Given the description of an element on the screen output the (x, y) to click on. 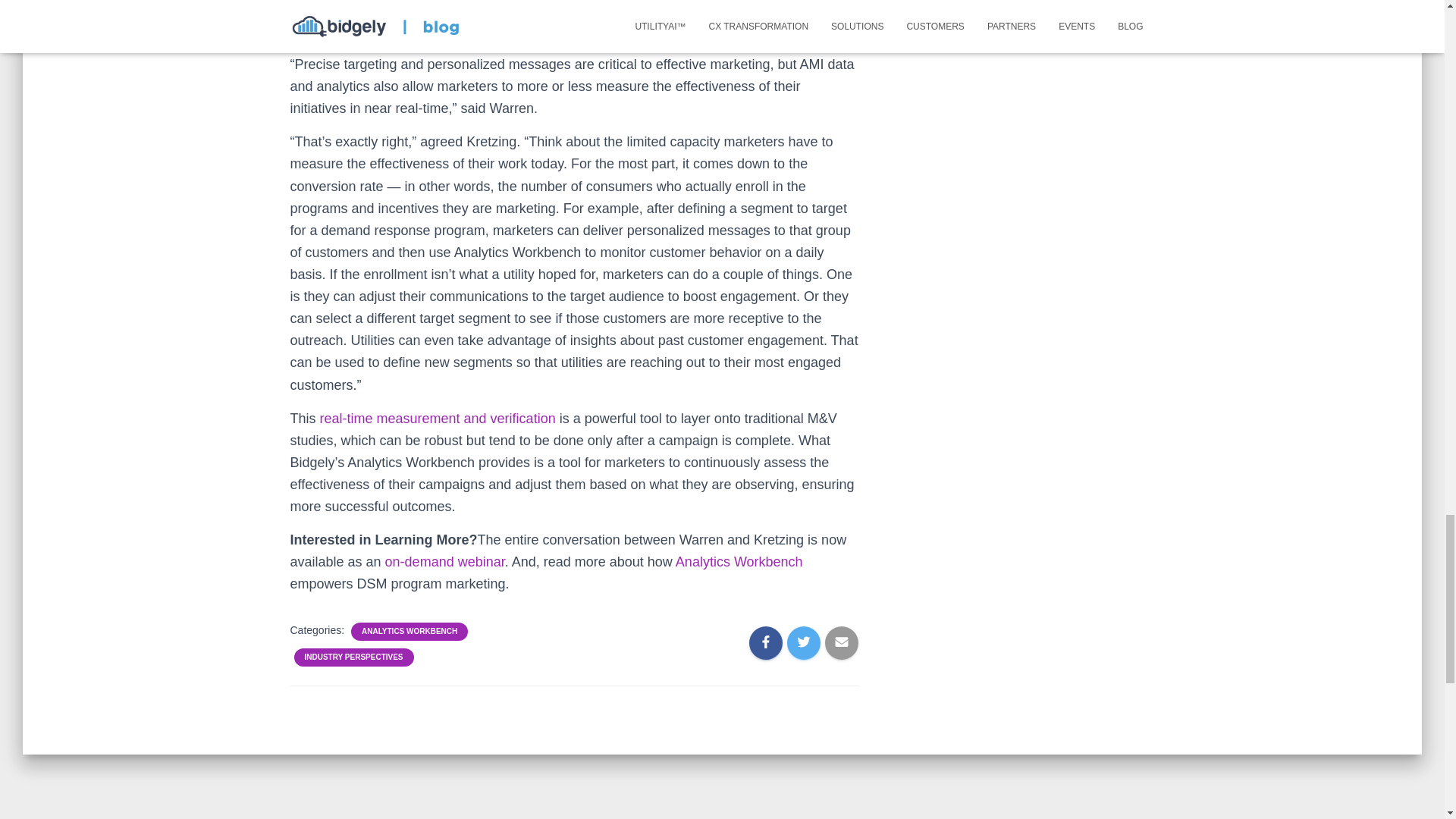
real-time measurement and verification (438, 418)
INDUSTRY PERSPECTIVES (353, 656)
on-demand webinar (445, 561)
ANALYTICS WORKBENCH (408, 631)
Analytics Workbench (739, 561)
